Given the description of an element on the screen output the (x, y) to click on. 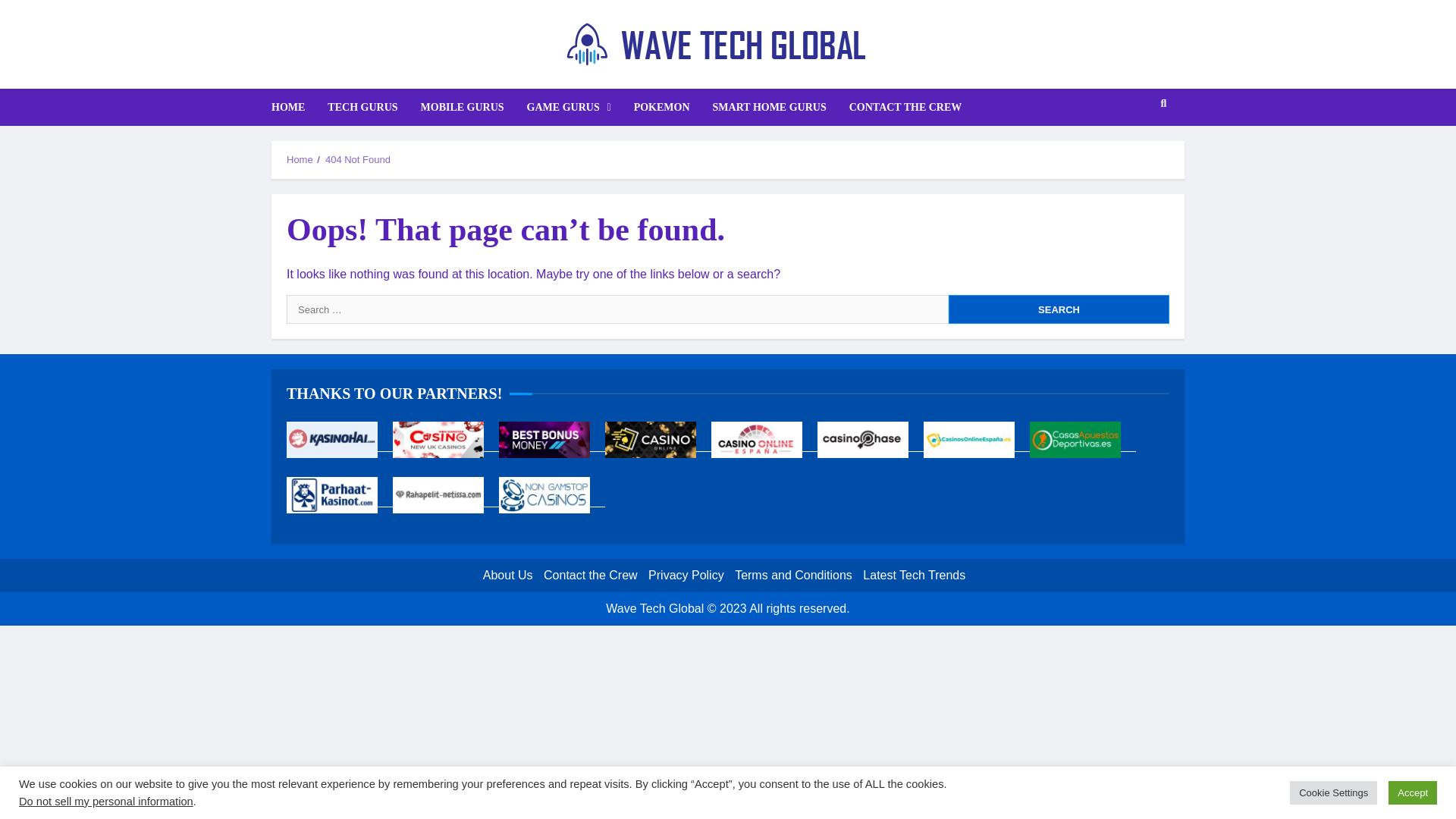
new online slots uk (446, 445)
Home (299, 159)
GAME GURUS (339, 499)
Search (569, 107)
TECH GURUS (1133, 149)
MOBILE GURUS (362, 107)
Search (462, 107)
Terms and Conditions (1059, 308)
HOME (793, 574)
Contact the Crew (292, 107)
SMART HOME GURUS (590, 574)
Search (769, 107)
Privacy Policy (1059, 308)
CONTACT THE CREW (685, 574)
